Given the description of an element on the screen output the (x, y) to click on. 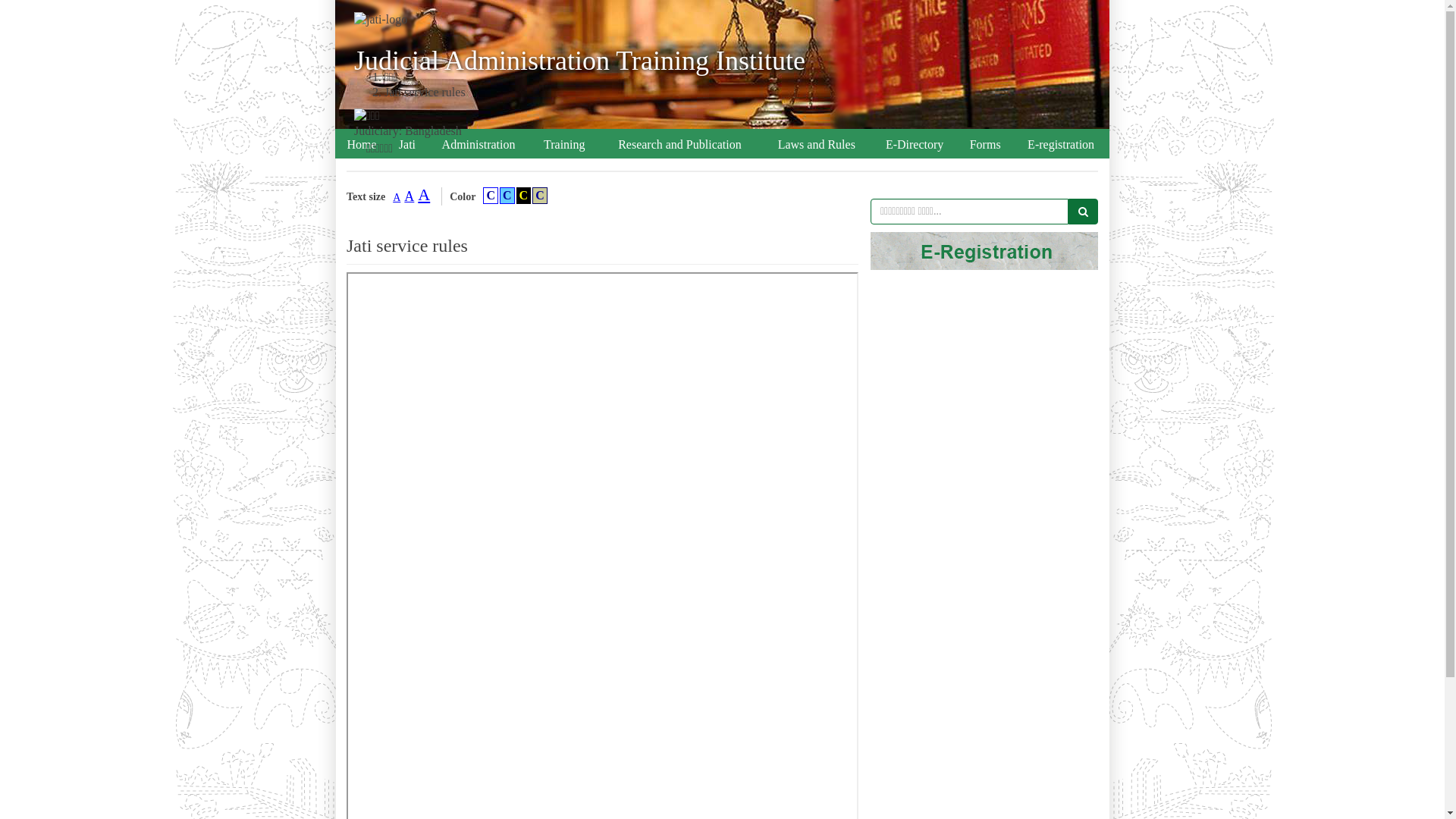
Training Element type: text (563, 144)
E-Directory Element type: text (914, 144)
A Element type: text (423, 194)
C Element type: text (506, 195)
Administration Element type: text (478, 144)
Jati Element type: text (407, 144)
A Element type: text (396, 197)
Home Element type: text (361, 144)
Jati service rules Element type: text (424, 91)
Forms Element type: text (984, 144)
E-registration Element type: text (1060, 144)
A Element type: text (409, 195)
C Element type: text (523, 195)
Research and Publication Element type: text (679, 144)
Skip to main content Element type: text (0, 0)
C Element type: text (539, 195)
Judiciary: Bangladesh Element type: text (407, 130)
Laws and Rules Element type: text (816, 144)
C Element type: text (490, 195)
